Given the description of an element on the screen output the (x, y) to click on. 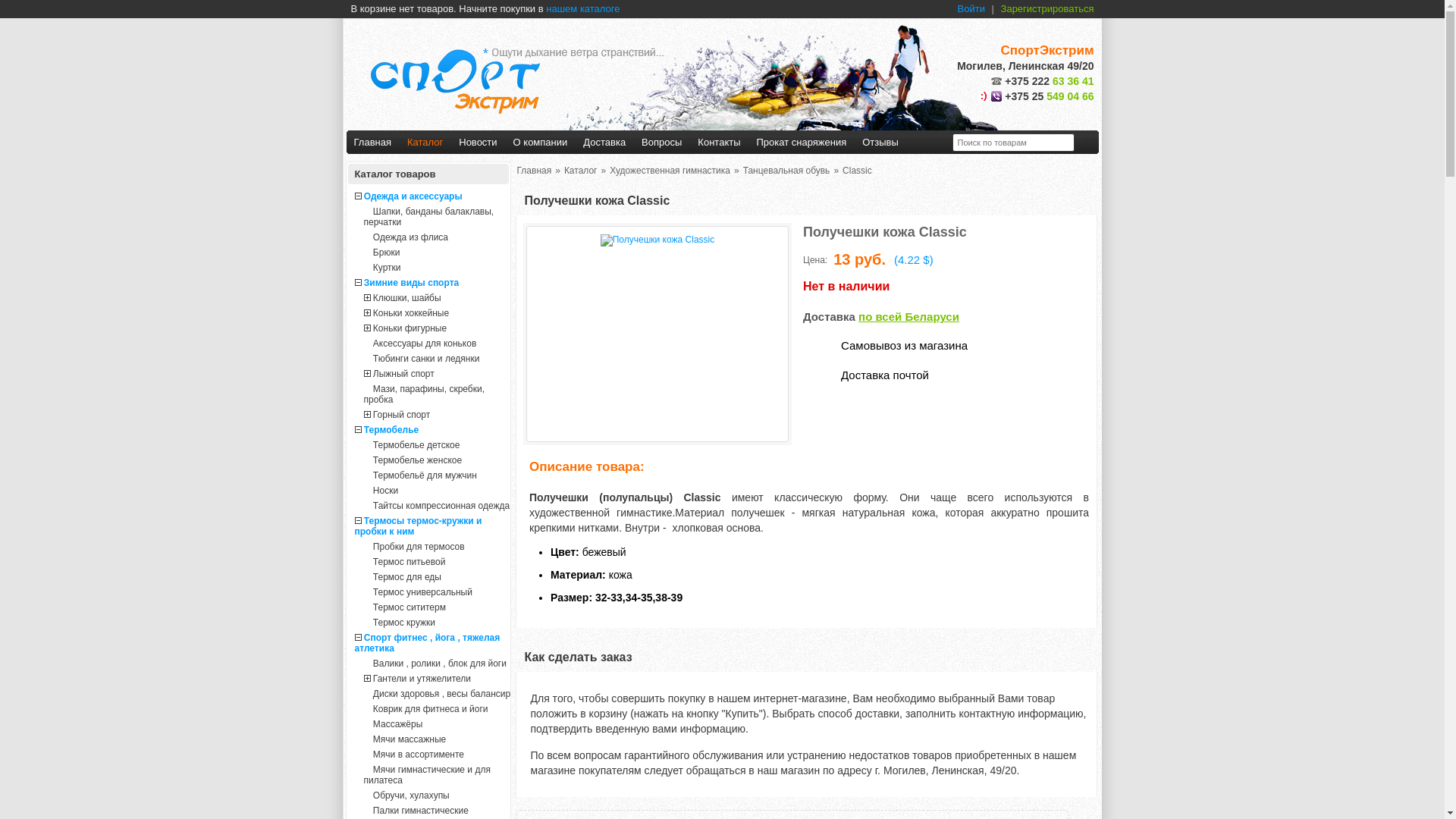
  Element type: text (1085, 141)
